Given the description of an element on the screen output the (x, y) to click on. 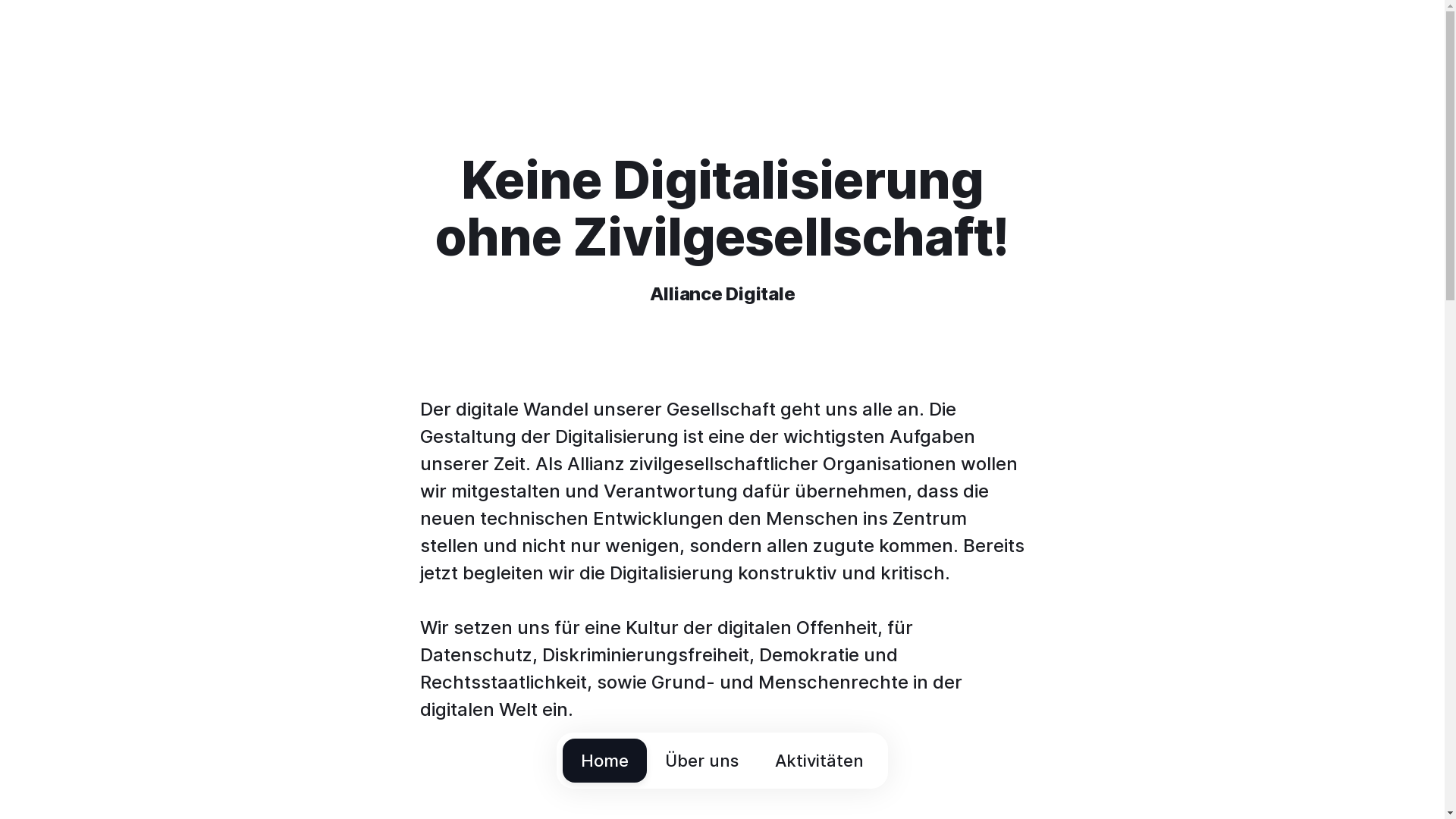
Home Element type: text (604, 760)
